Given the description of an element on the screen output the (x, y) to click on. 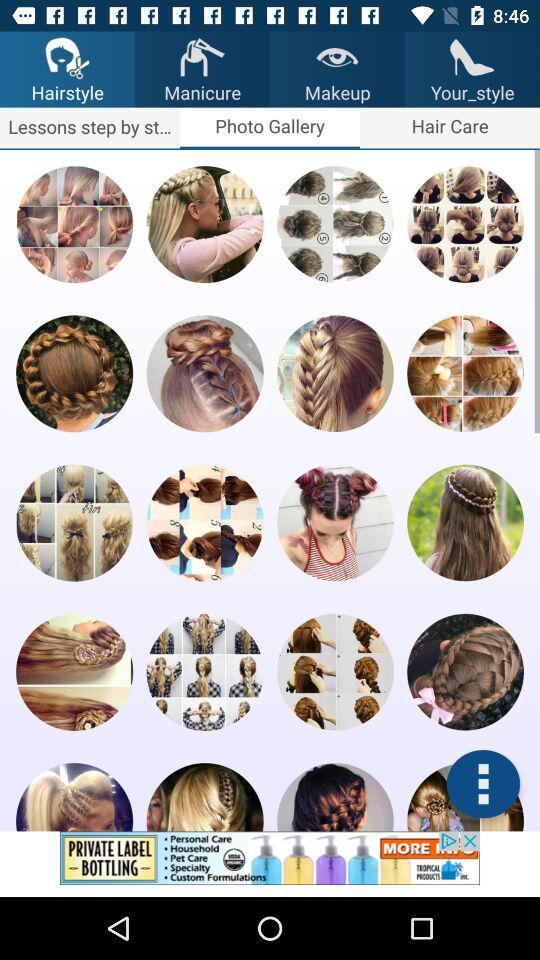
photo preview (465, 522)
